Given the description of an element on the screen output the (x, y) to click on. 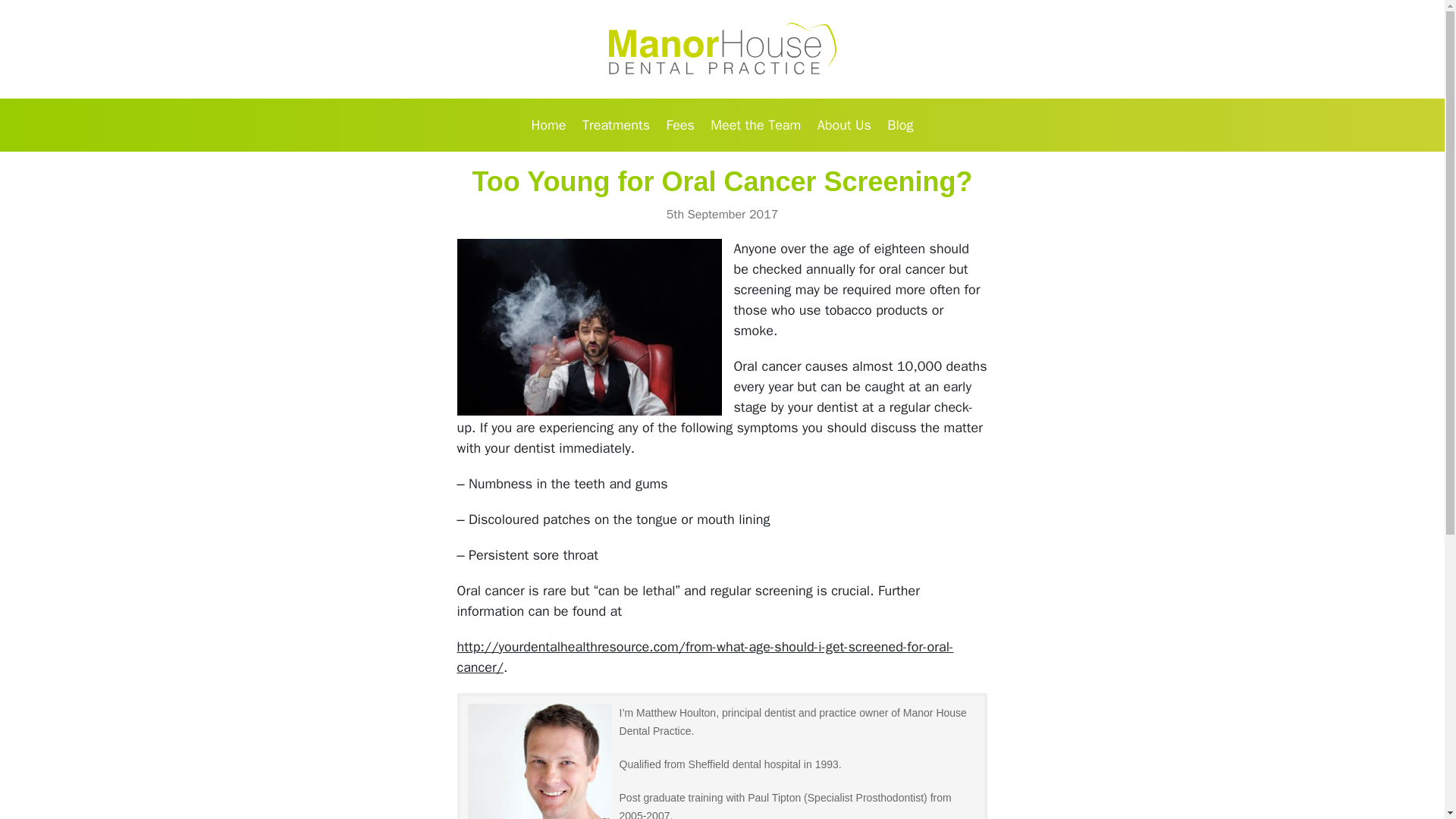
Treatments (616, 124)
Meet the Team (755, 124)
About Us (843, 124)
Homepage (721, 49)
